Given the description of an element on the screen output the (x, y) to click on. 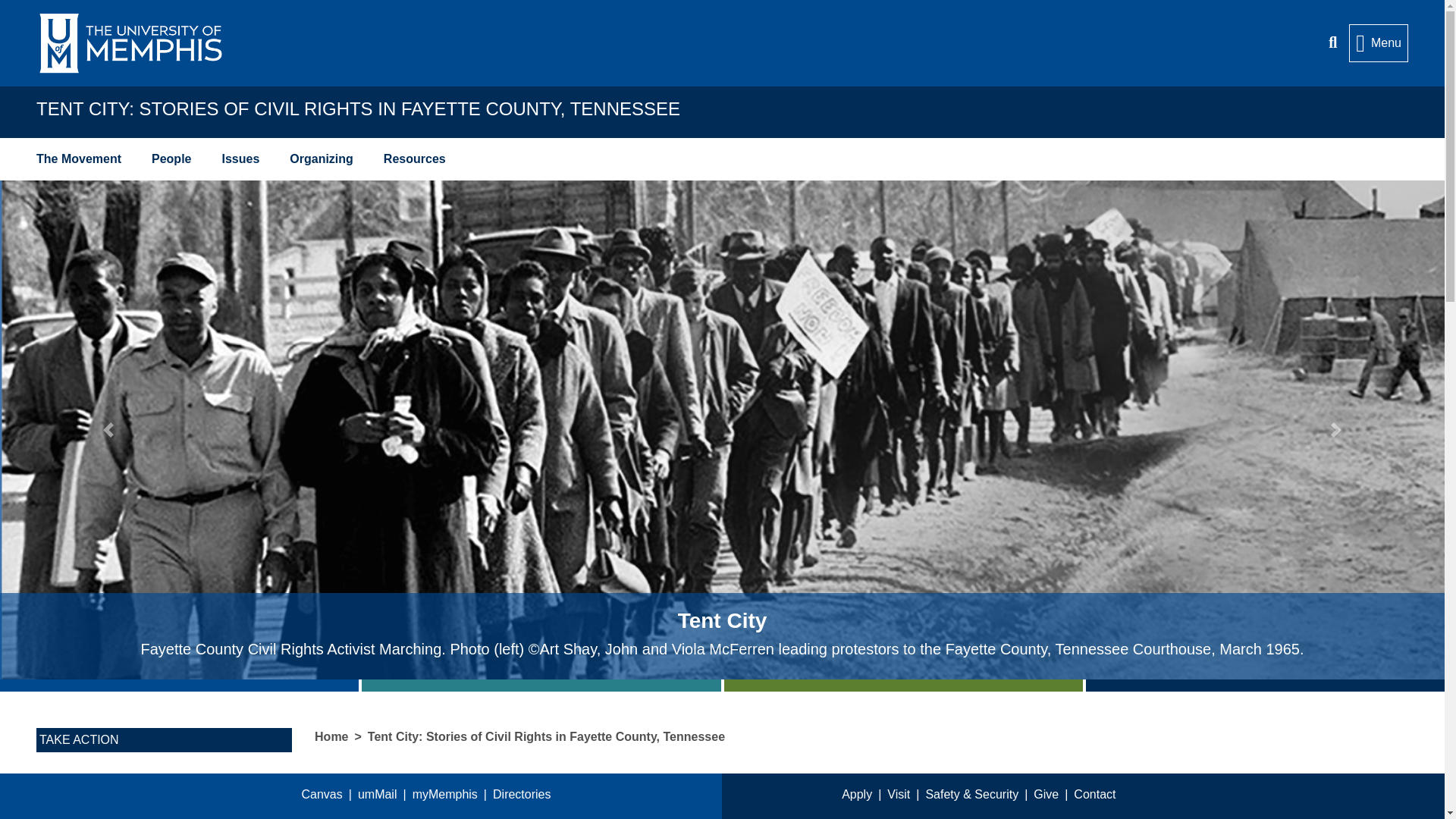
myMemphis (452, 795)
Give (1053, 795)
Organizing (321, 159)
Visit (905, 795)
umMail (385, 795)
Canvas (329, 795)
menu navbar (721, 159)
Issues (240, 159)
People (171, 159)
